Given the description of an element on the screen output the (x, y) to click on. 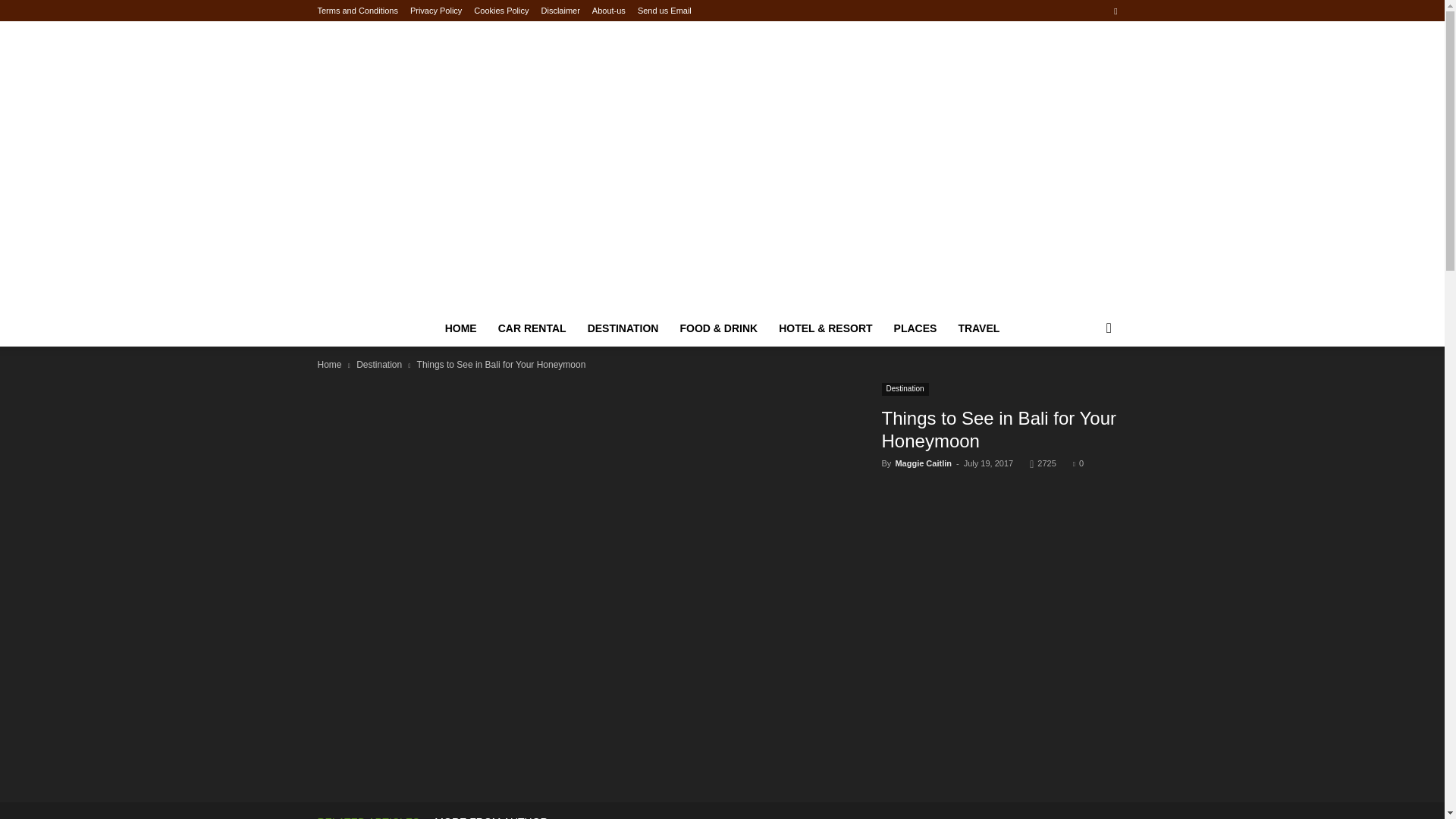
Privacy Policy (435, 10)
Disclaimer (560, 10)
PLACES (915, 328)
Home (328, 364)
About-us (609, 10)
Destination (378, 364)
Terms and Conditions (357, 10)
HOME (460, 328)
Destination (905, 389)
Send us Email (664, 10)
